Given the description of an element on the screen output the (x, y) to click on. 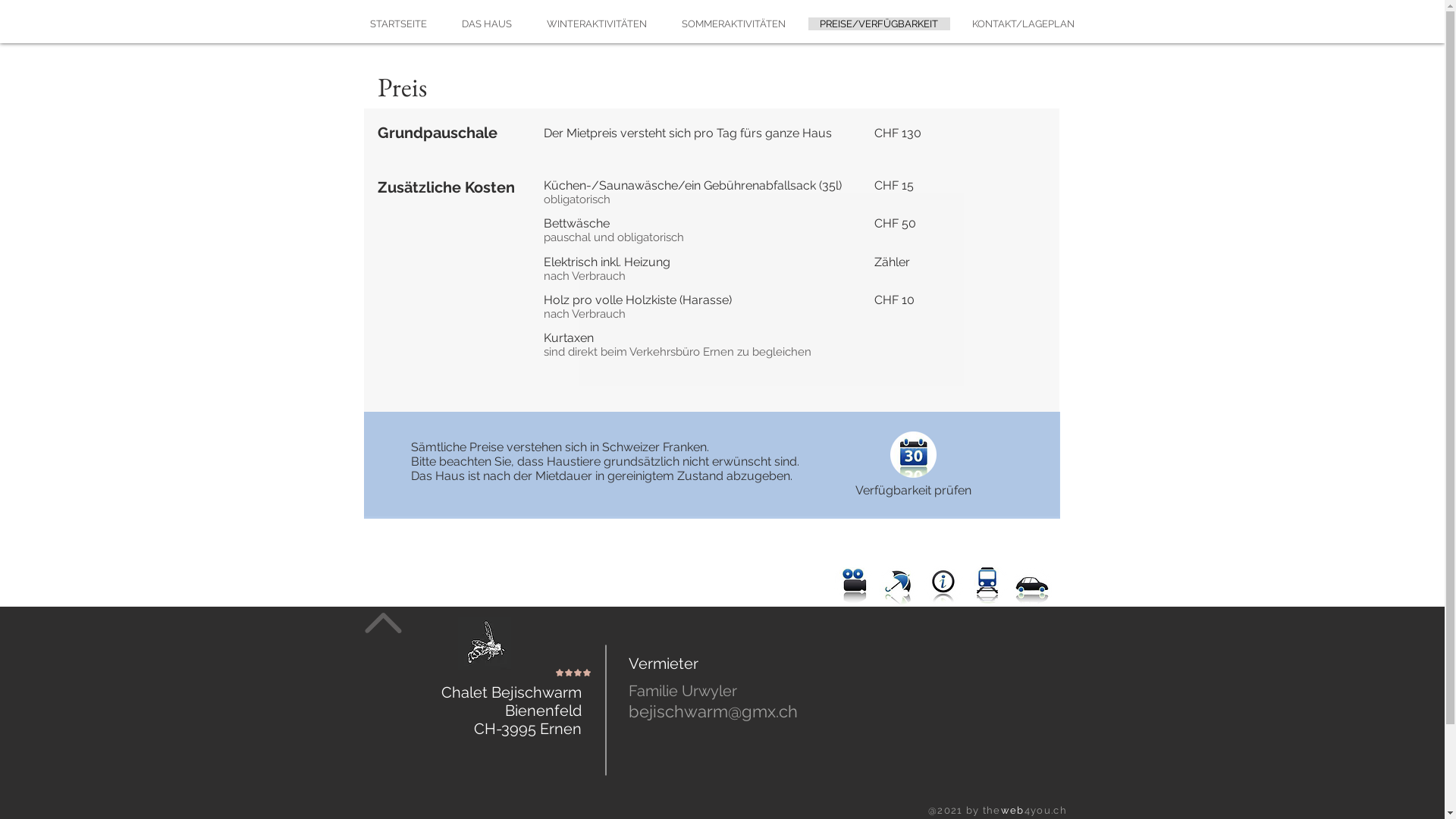
Anfahrt planen Element type: hover (1032, 586)
KONTAKT/LAGEPLAN Element type: text (1022, 23)
DAS HAUS Element type: text (485, 23)
web Element type: text (1012, 809)
SBB Zugfahrplan Element type: hover (988, 583)
by the Element type: text (983, 809)
Webcams der Region Element type: hover (853, 583)
4you.ch Element type: text (1045, 809)
Website Gemeinde Ernen (VS) Element type: hover (942, 585)
Wetter Element type: hover (897, 585)
bejischwarm@gmx.ch Element type: text (712, 711)
STARTSEITE Element type: text (398, 23)
